Given the description of an element on the screen output the (x, y) to click on. 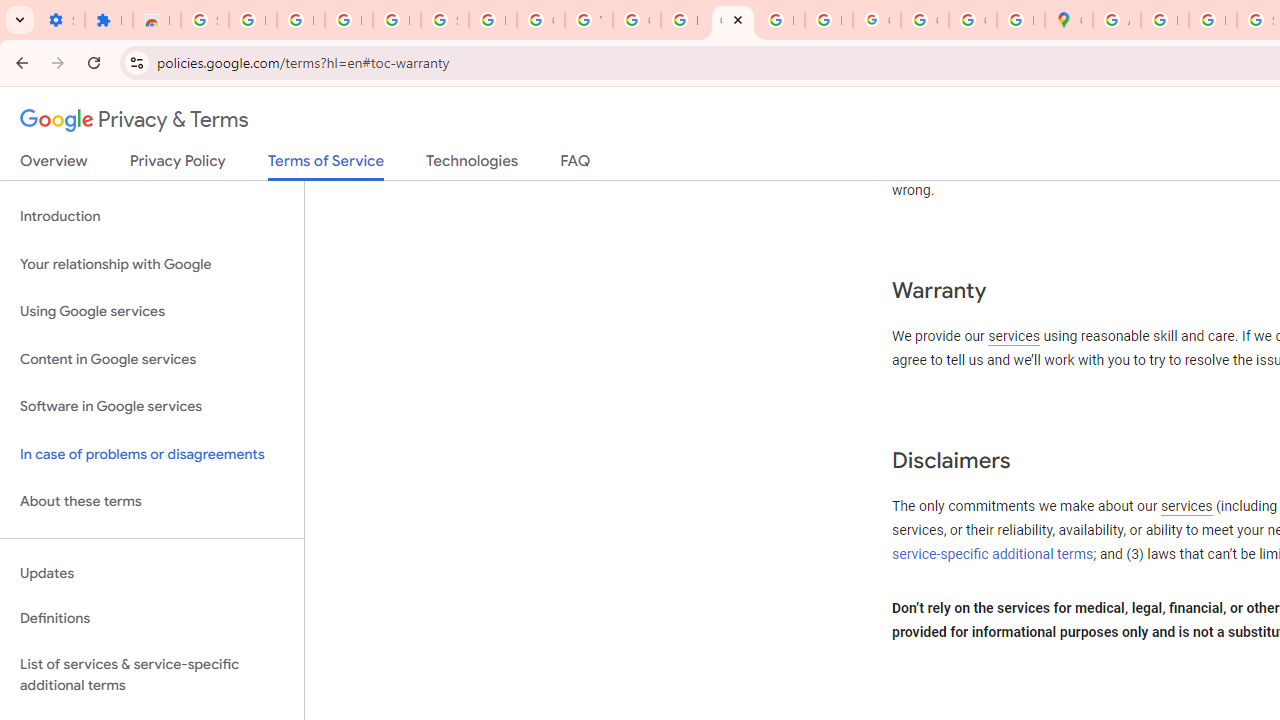
Content in Google services (152, 358)
Reviews: Helix Fruit Jump Arcade Game (156, 20)
Definitions (152, 619)
List of services & service-specific additional terms (152, 674)
